Given the description of an element on the screen output the (x, y) to click on. 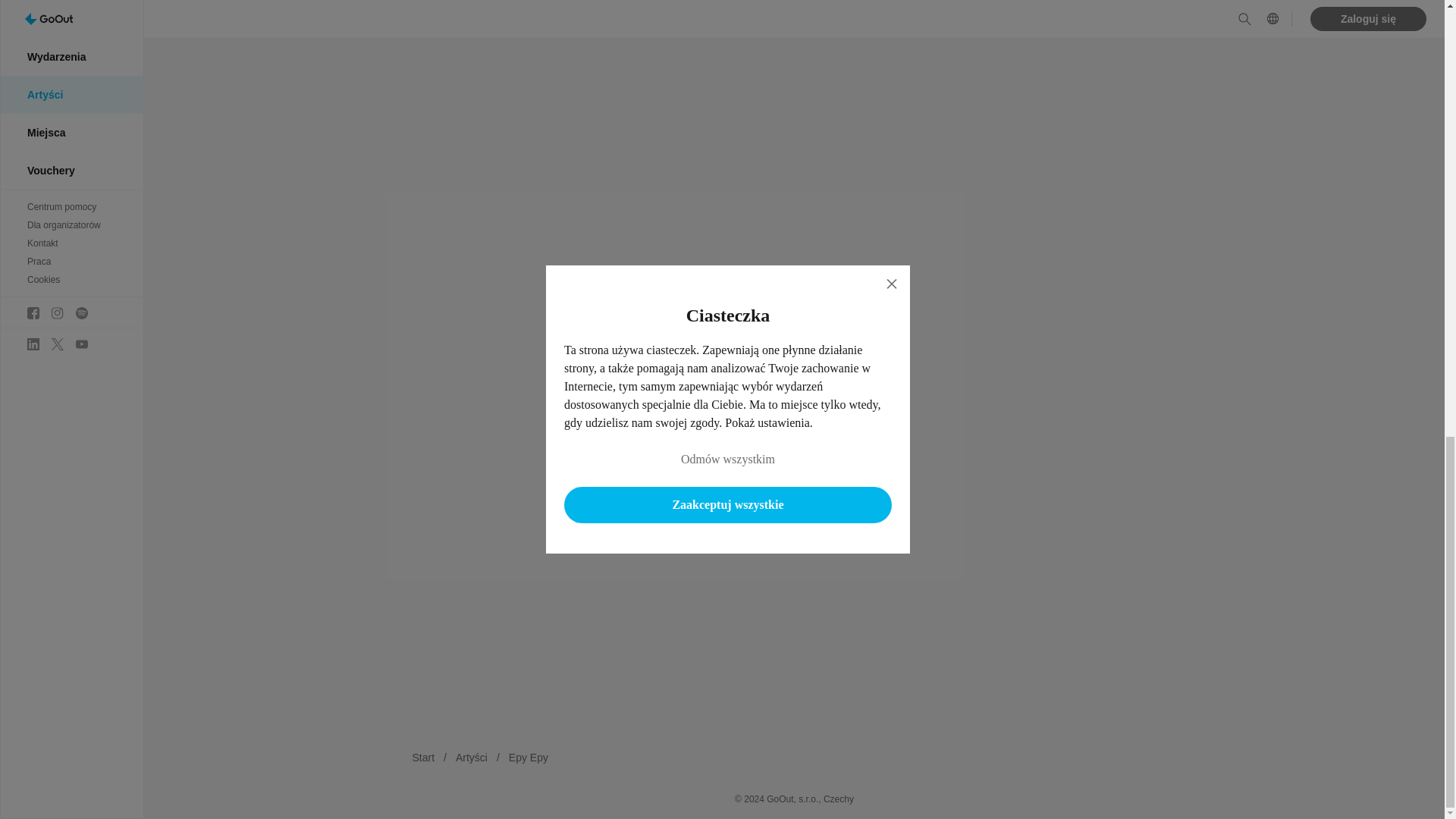
Epy Epy (528, 757)
Start (423, 757)
